Given the description of an element on the screen output the (x, y) to click on. 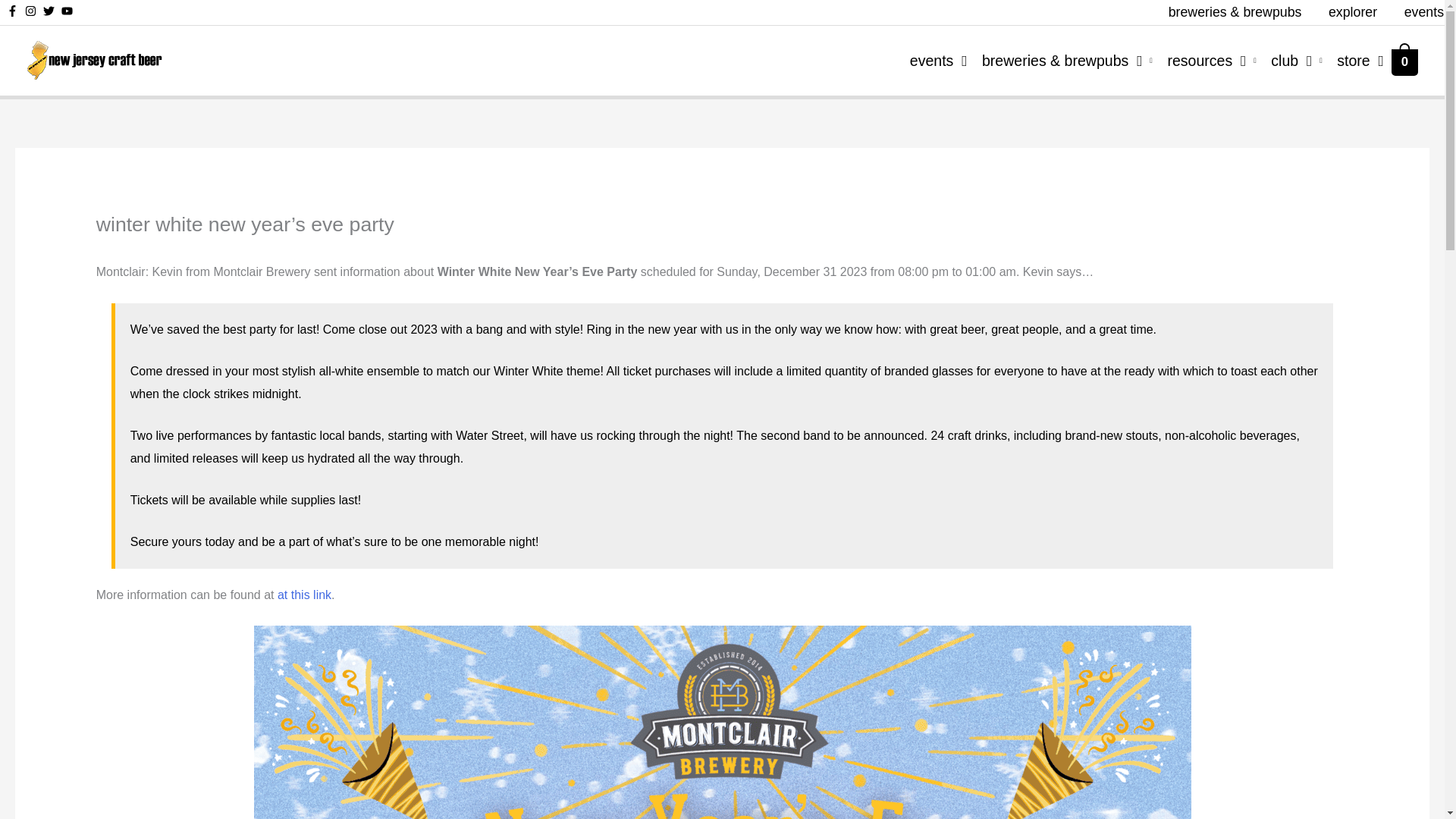
resources   (1204, 60)
events (1417, 11)
events   (930, 60)
NJCB Membership Club (1289, 60)
explorer (1352, 11)
NJCB Beer Resources (1204, 60)
NJCB Store (1353, 60)
club   (1289, 60)
New Jersey Breweries and Brewpubs (1058, 60)
NJCB Events and News (930, 60)
